Given the description of an element on the screen output the (x, y) to click on. 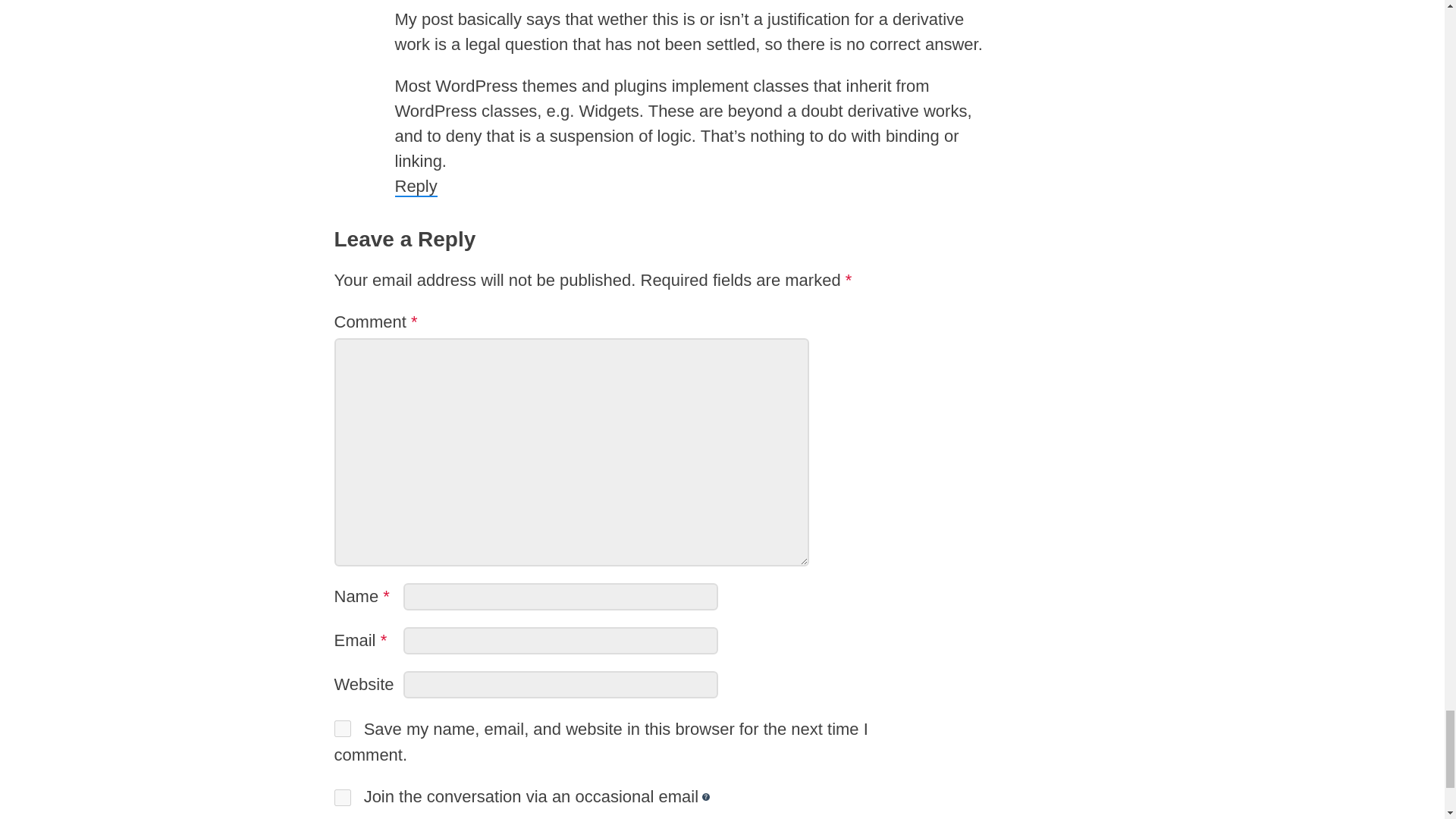
1 (341, 797)
yes (341, 728)
Reply (415, 186)
